Given the description of an element on the screen output the (x, y) to click on. 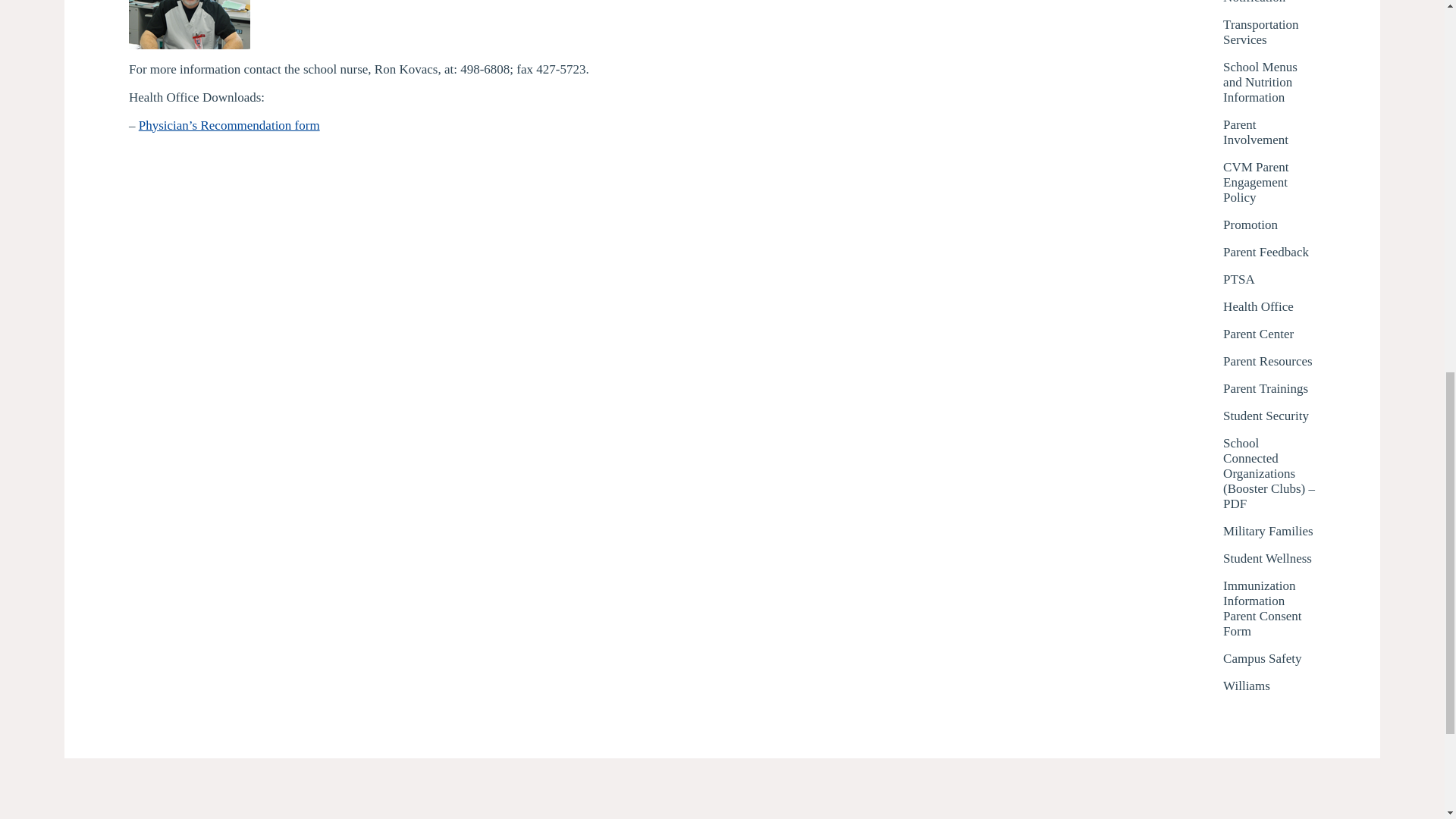
Military Families (1268, 531)
Mr. Kovacs (189, 24)
Parent Feedback (1265, 252)
Health Office (1258, 306)
Parent Resources (1268, 361)
Immunization Information Parent Consent Form (1269, 608)
Parent Trainings (1265, 388)
Annual Notification (1269, 2)
CVM Parent Engagement Policy (1269, 182)
Student Security (1265, 416)
PTSA (1239, 279)
Promotion (1250, 224)
Campus Safety (1262, 658)
School Menus and Nutrition Information (1269, 82)
Transportation Services (1269, 32)
